Given the description of an element on the screen output the (x, y) to click on. 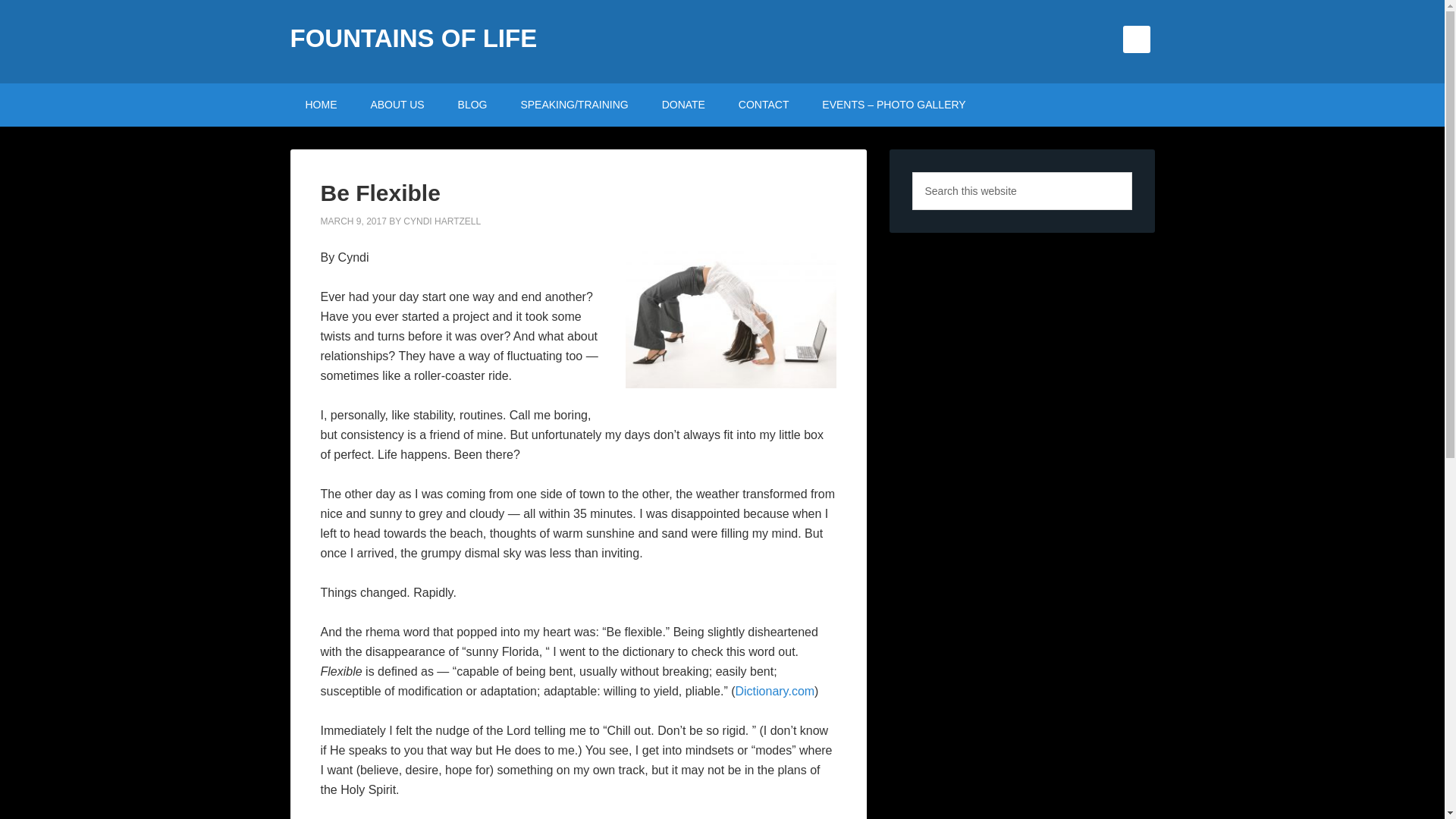
Dictionary.com (774, 689)
FOUNTAINS OF LIFE (413, 38)
DONATE (683, 104)
ABOUT US (397, 104)
CYNDI HARTZELL (441, 221)
BLOG (472, 104)
CONTACT (764, 104)
